Given the description of an element on the screen output the (x, y) to click on. 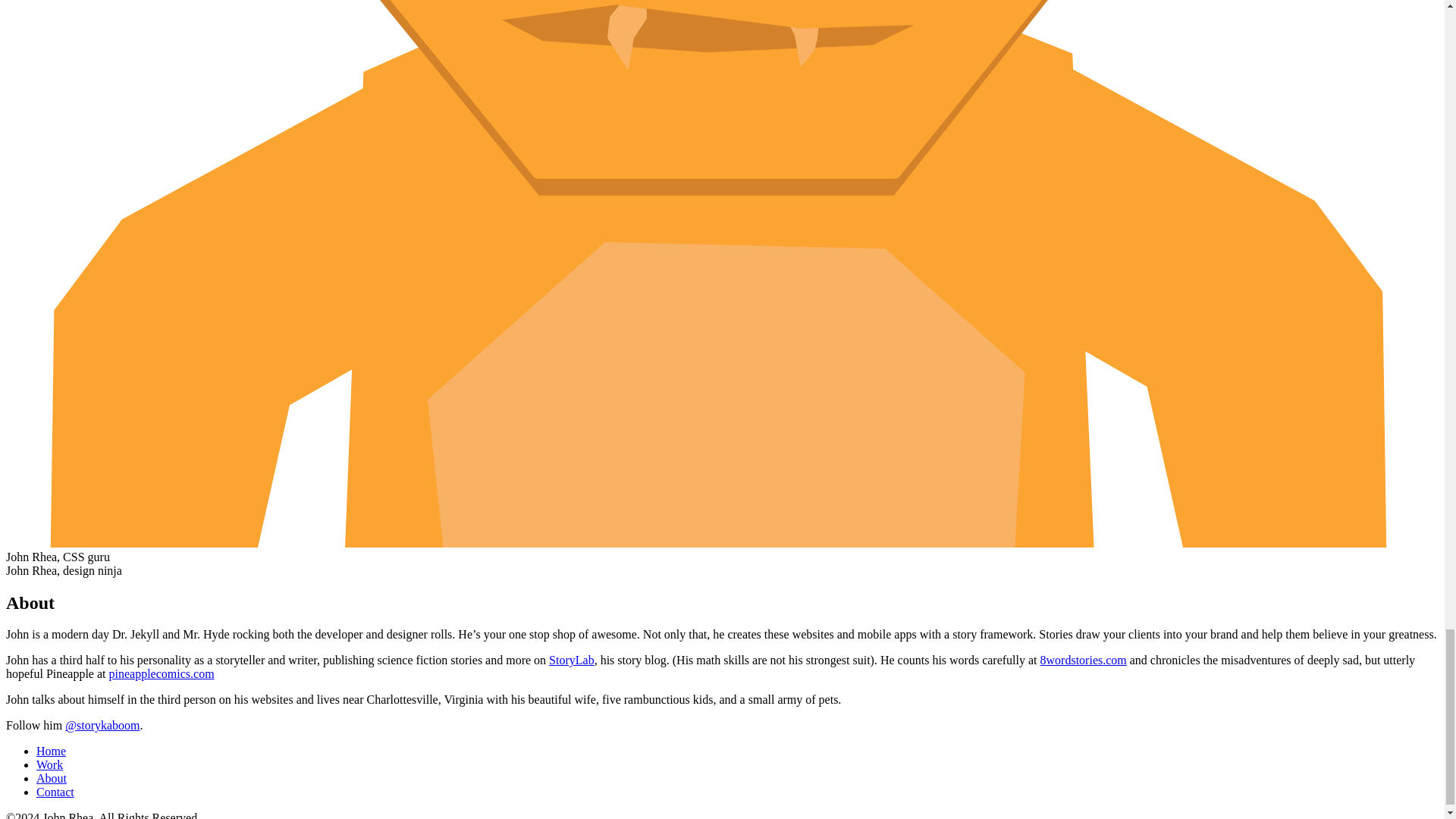
pineapplecomics.com (161, 673)
Contact (55, 791)
About (51, 778)
Work (49, 764)
8wordstories.com (1083, 659)
StoryLab (571, 659)
Home (50, 750)
